Given the description of an element on the screen output the (x, y) to click on. 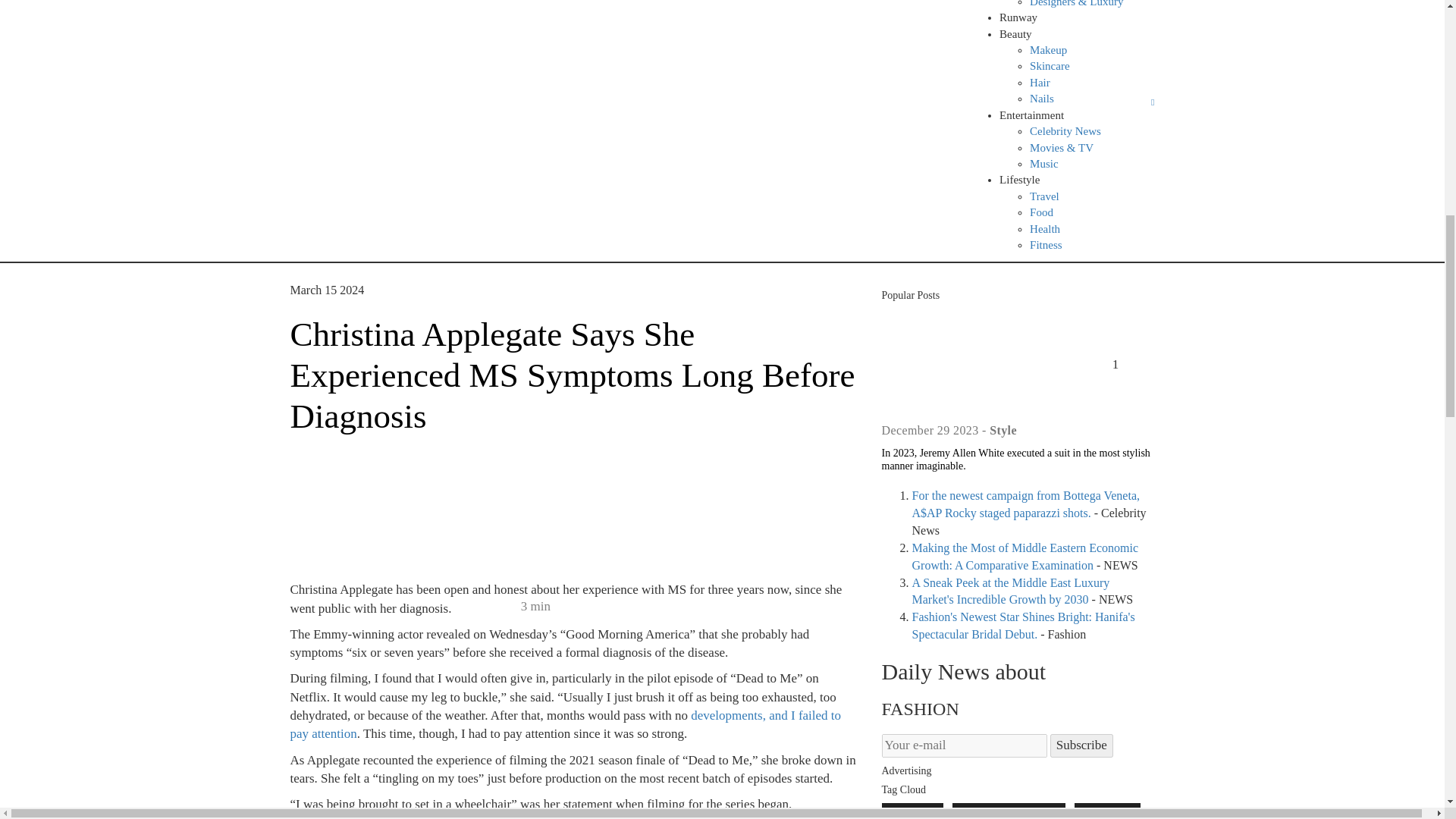
Fitness (1045, 244)
Hair (1039, 82)
Nails (1041, 98)
Travel (1044, 196)
Lifestyle (1018, 179)
Runway (1017, 17)
Makeup (1048, 50)
developments, and I failed to pay attention (565, 724)
Music (1043, 163)
Beauty (1015, 33)
